Given the description of an element on the screen output the (x, y) to click on. 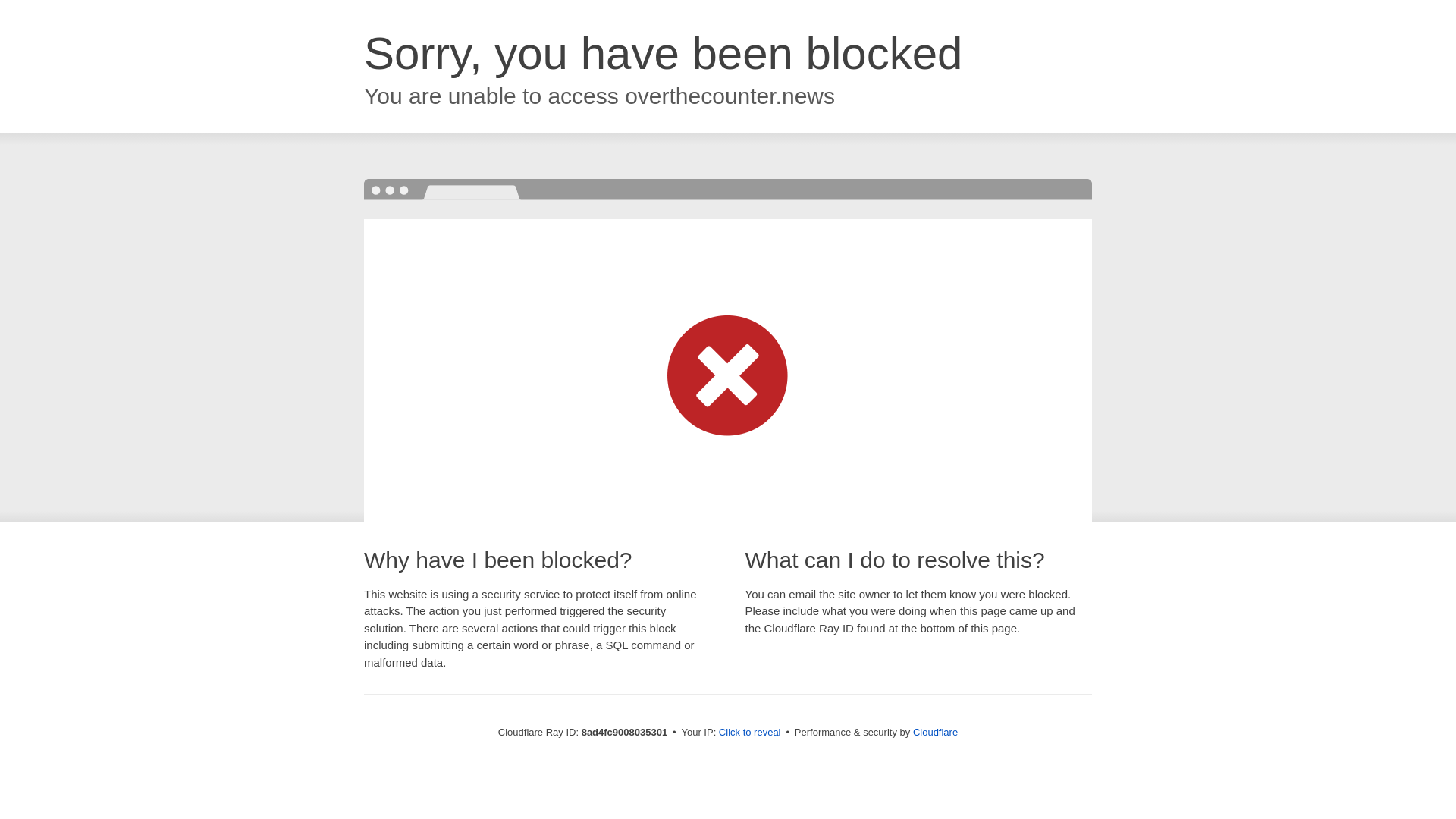
Cloudflare (935, 731)
Click to reveal (749, 732)
